Given the description of an element on the screen output the (x, y) to click on. 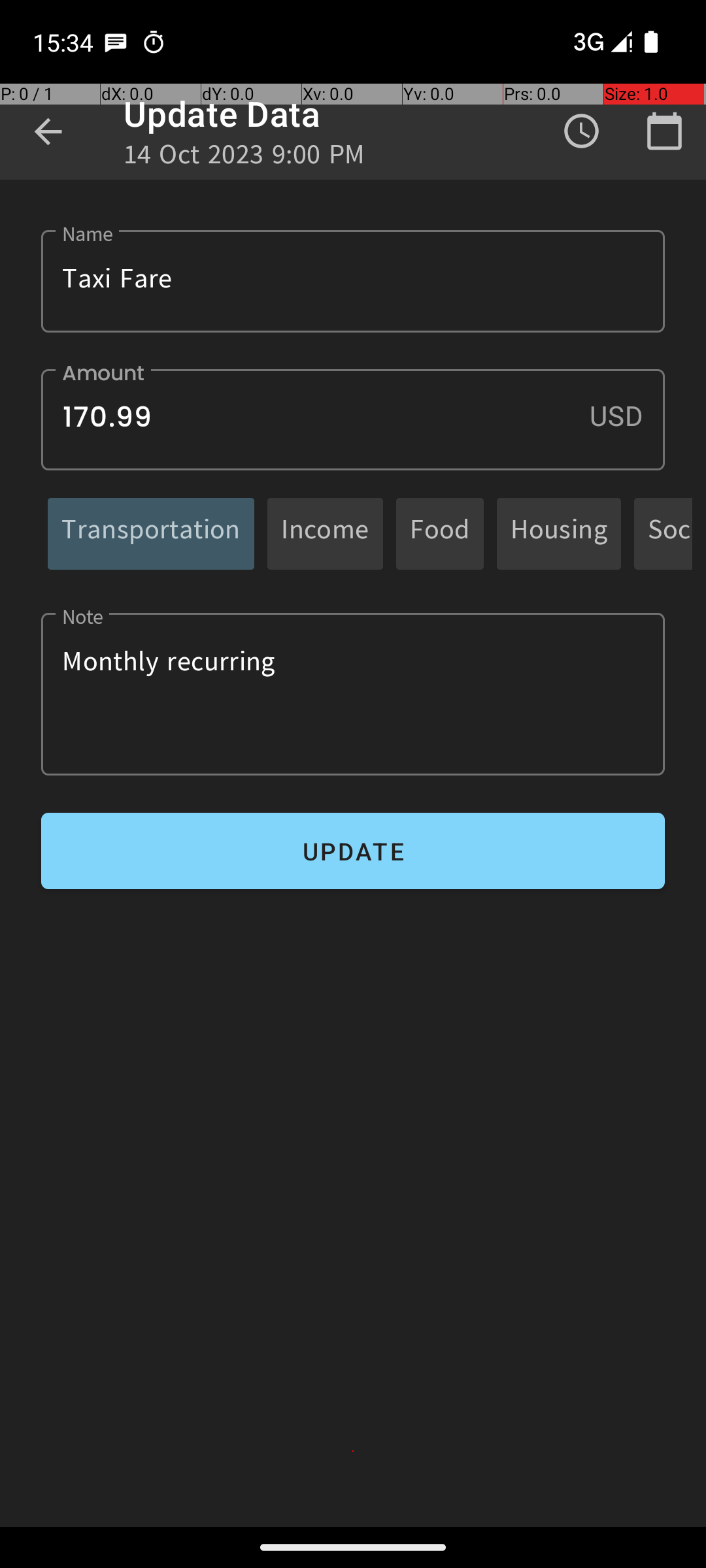
14 Oct 2023 9:00 PM Element type: android.widget.TextView (244, 157)
Taxi Fare Element type: android.widget.EditText (352, 280)
170.99 Element type: android.widget.EditText (352, 419)
